Given the description of an element on the screen output the (x, y) to click on. 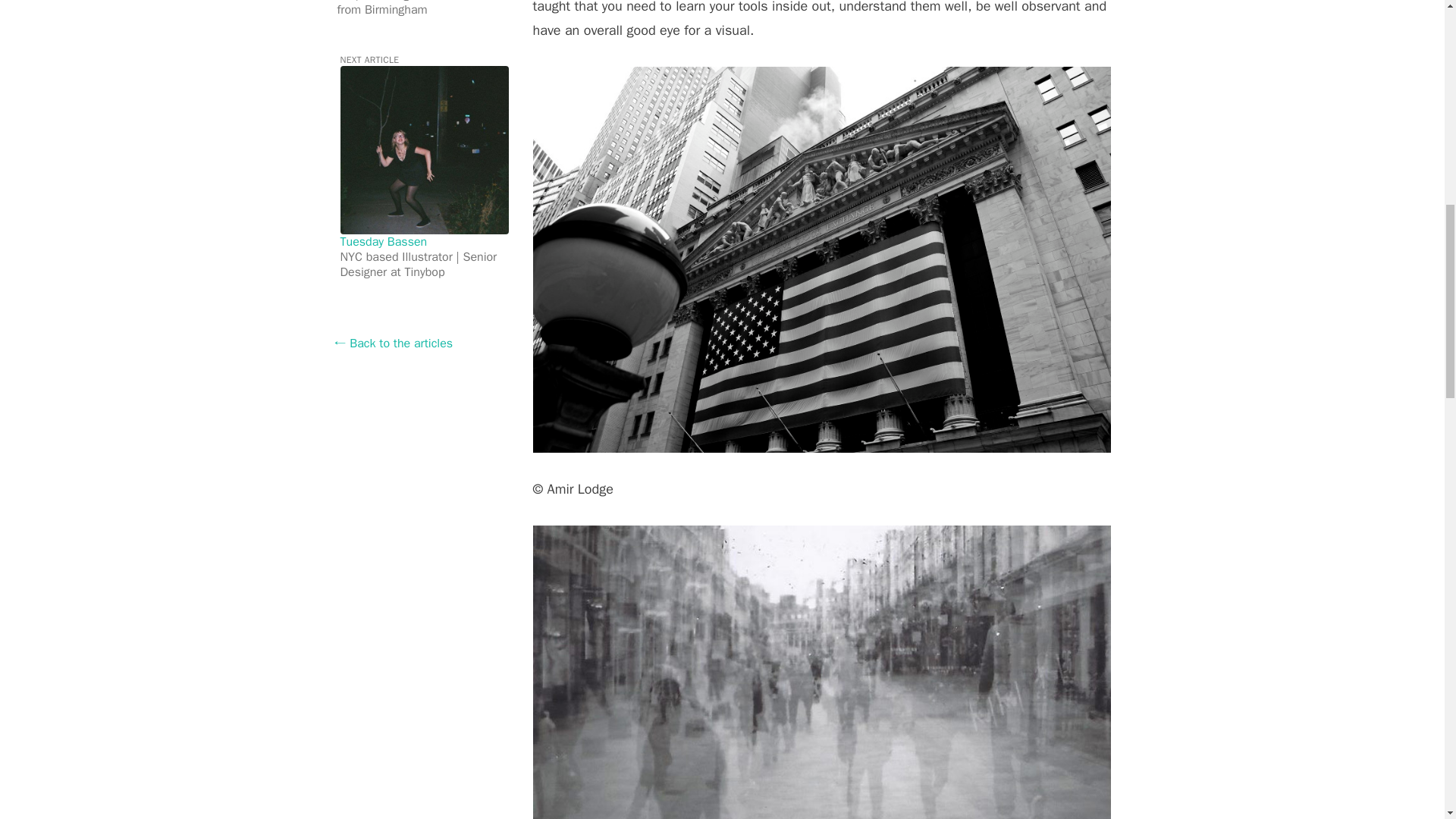
Tuesday Bassen (382, 241)
